Given the description of an element on the screen output the (x, y) to click on. 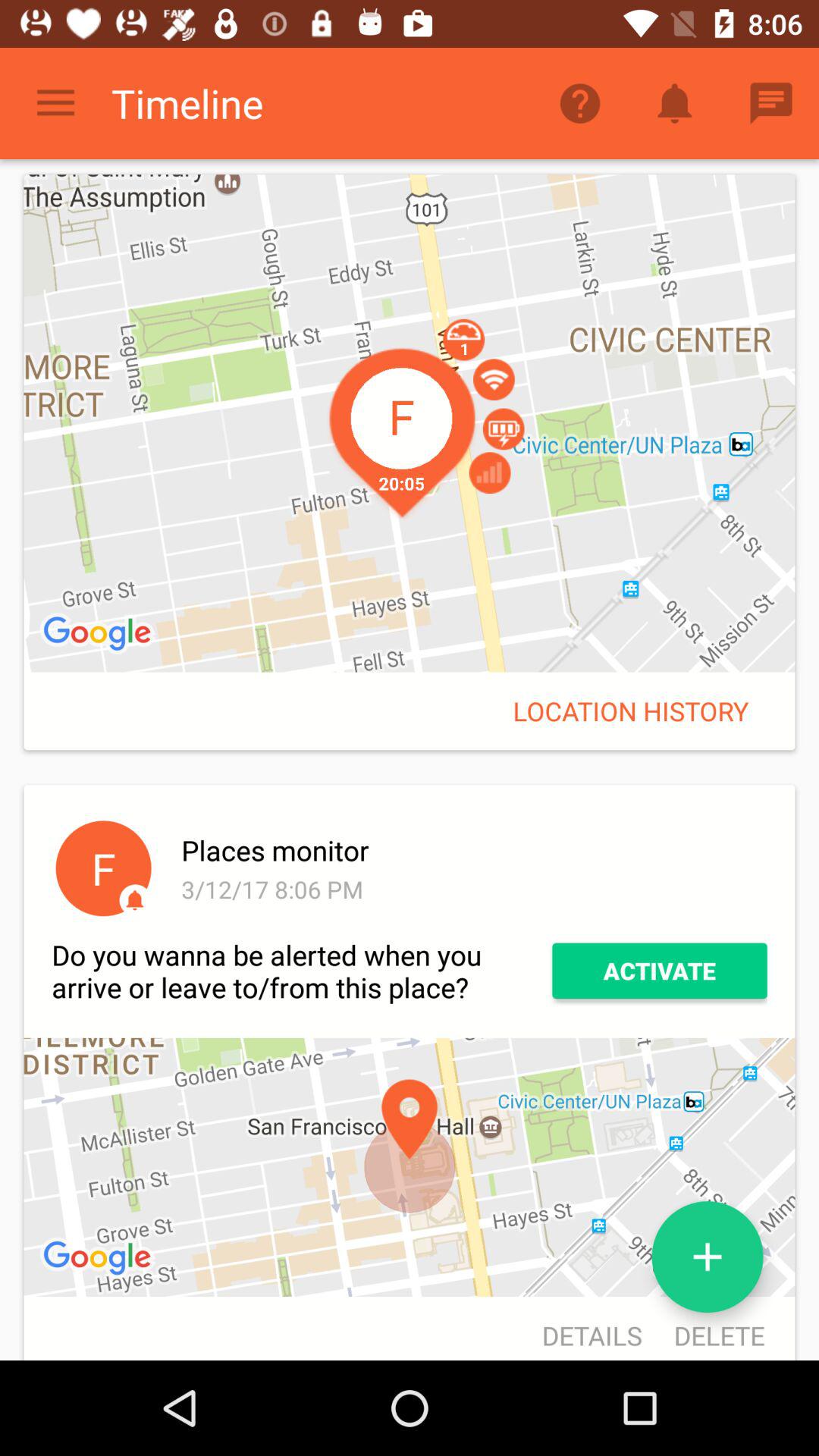
turn on the item below the do you wanna icon (99, 1258)
